Given the description of an element on the screen output the (x, y) to click on. 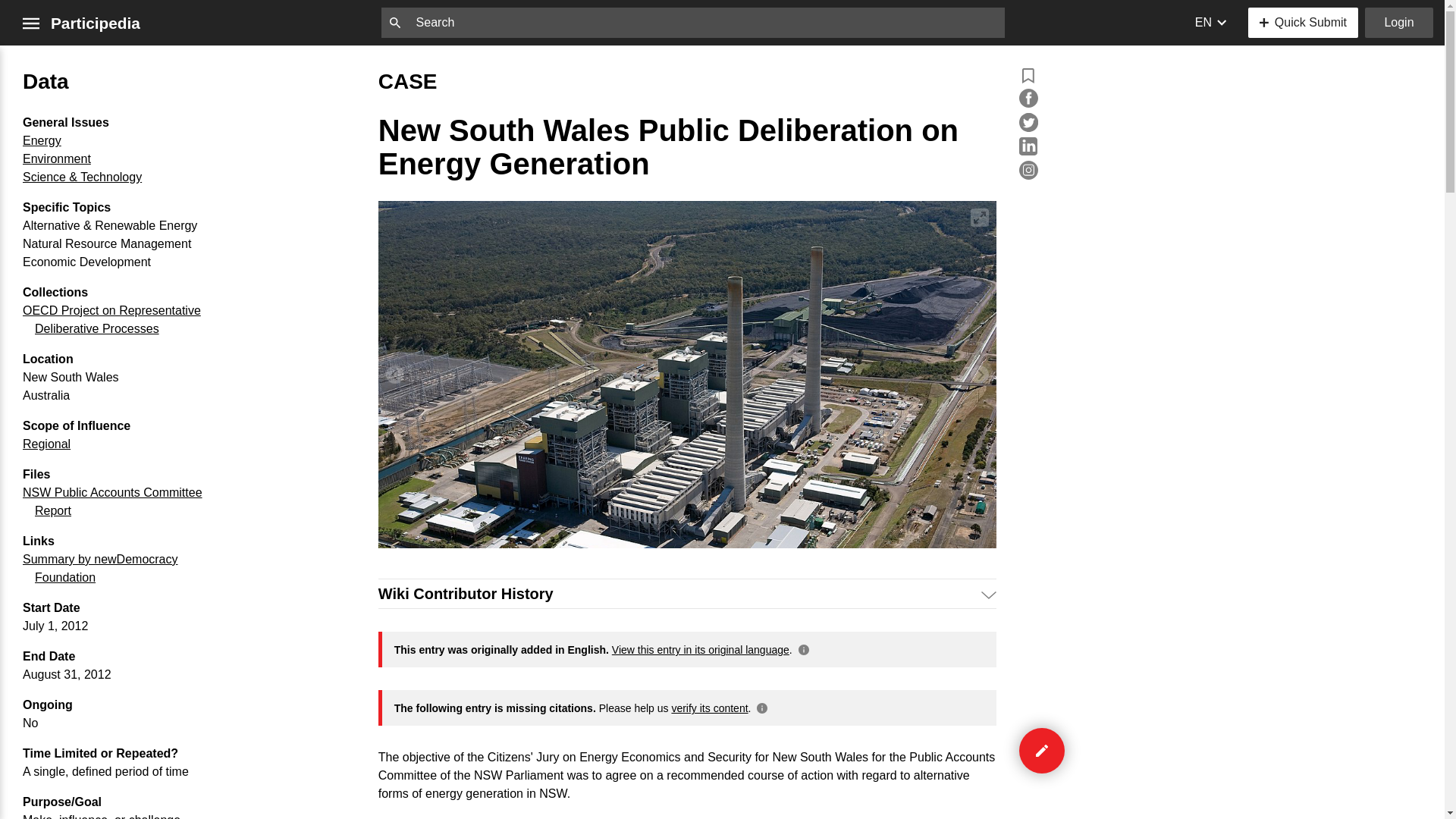
Edit case (1041, 750)
OECD Project on Representative Deliberative Processes (111, 318)
NSW Public Accounts Committee Report (112, 501)
Environment (56, 158)
Summary by newDemocracy Foundation (100, 567)
Participedia (94, 23)
View full-screen (979, 217)
Login (1398, 22)
Regional (46, 443)
Energy (42, 140)
Quick Submit (1302, 22)
